Given the description of an element on the screen output the (x, y) to click on. 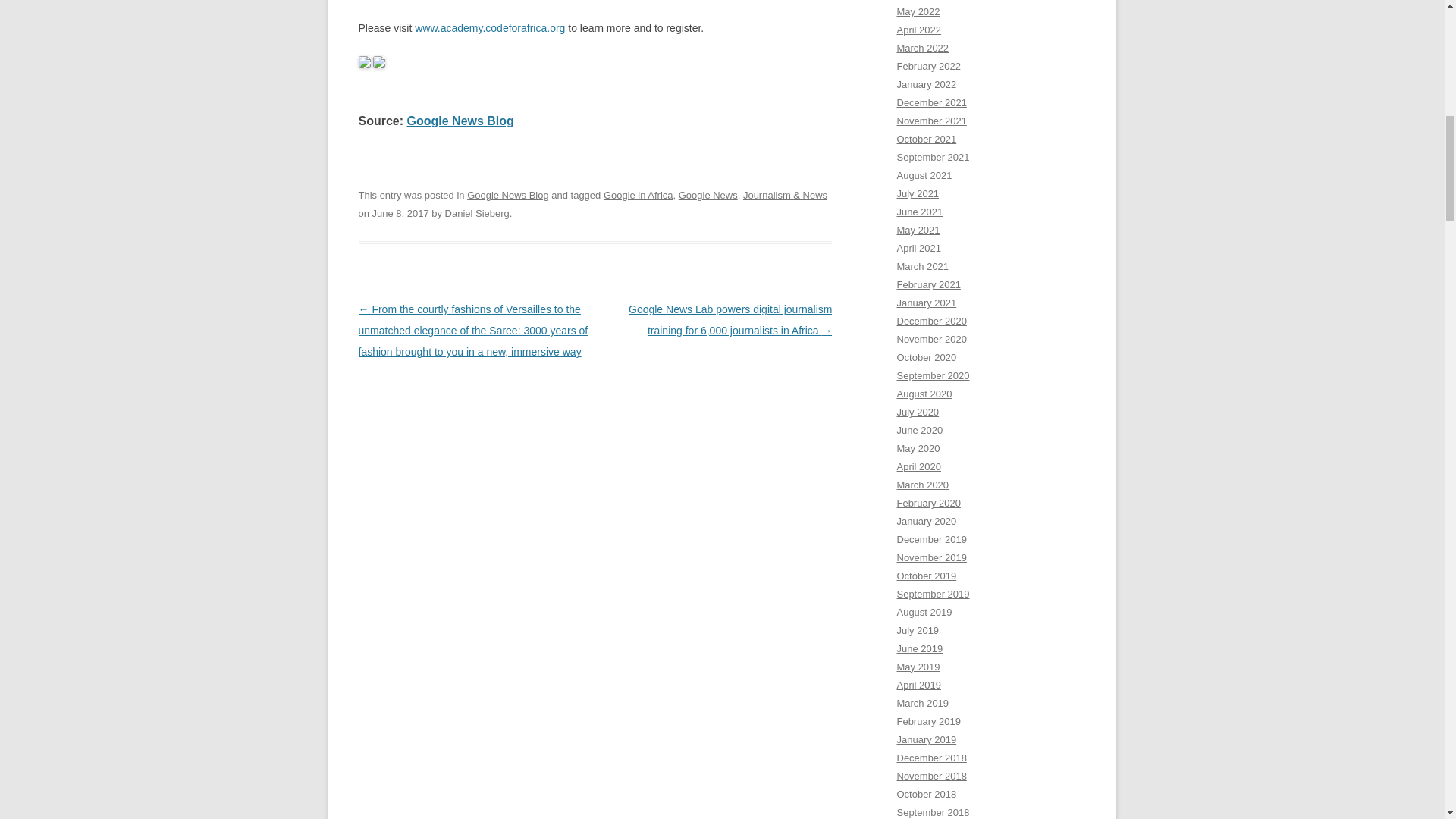
View all posts by Daniel Sieberg (477, 213)
Google News Blog (460, 120)
Google News Blog (507, 194)
Google News (708, 194)
Google in Africa (638, 194)
Daniel Sieberg (477, 213)
www.academy.codeforafrica.org (489, 28)
June 8, 2017 (400, 213)
10:00 am (400, 213)
